Given the description of an element on the screen output the (x, y) to click on. 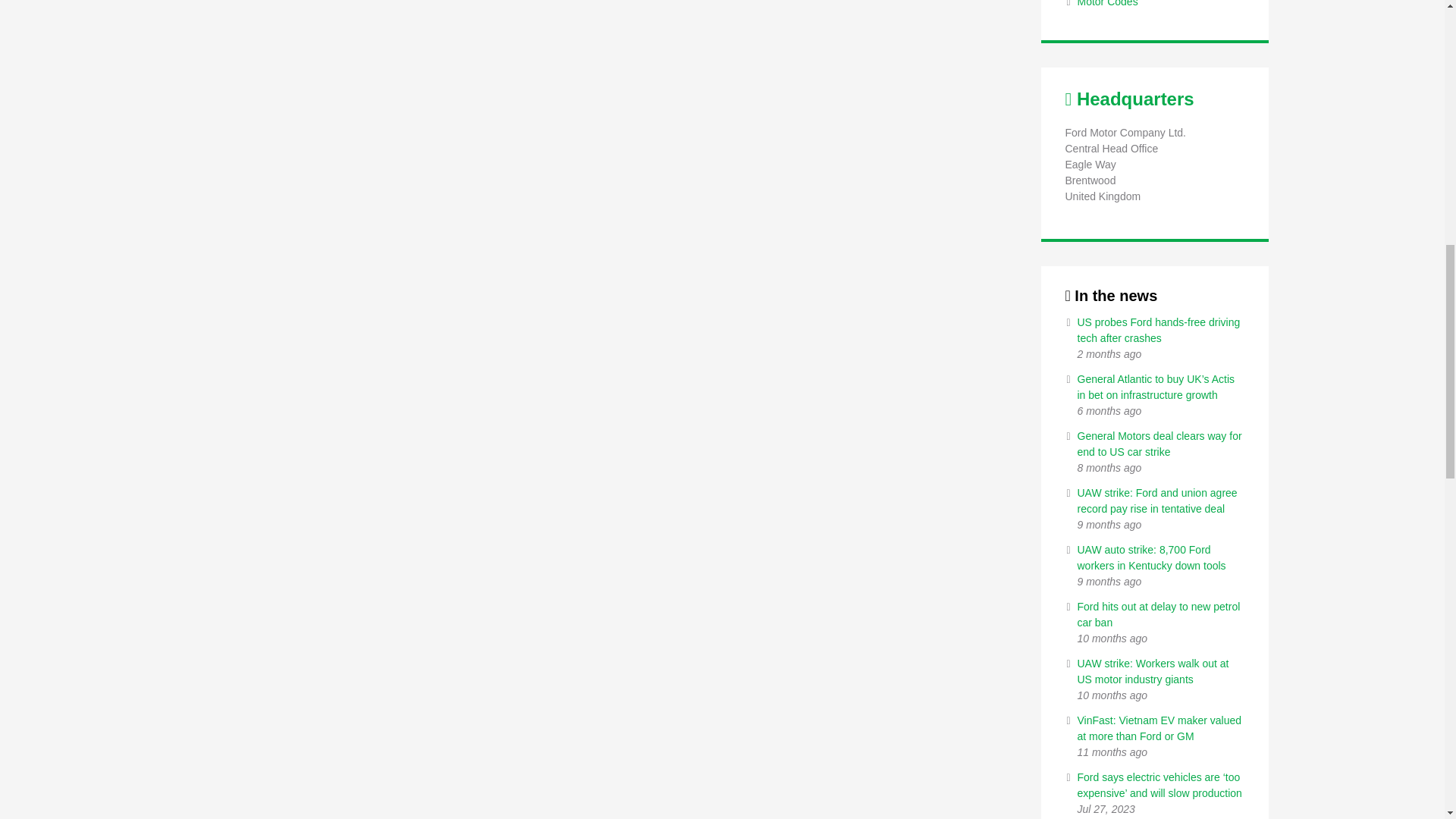
US probes Ford hands-free driving tech after crashes (1158, 329)
Motor Codes (1107, 3)
VinFast: Vietnam EV maker valued at more than Ford or GM (1159, 728)
UAW strike: Workers walk out at US motor industry giants (1152, 671)
UAW auto strike: 8,700 Ford workers in Kentucky down tools (1151, 557)
General Motors deal clears way for end to US car strike (1159, 443)
Ford hits out at delay to new petrol car ban (1158, 614)
